Given the description of an element on the screen output the (x, y) to click on. 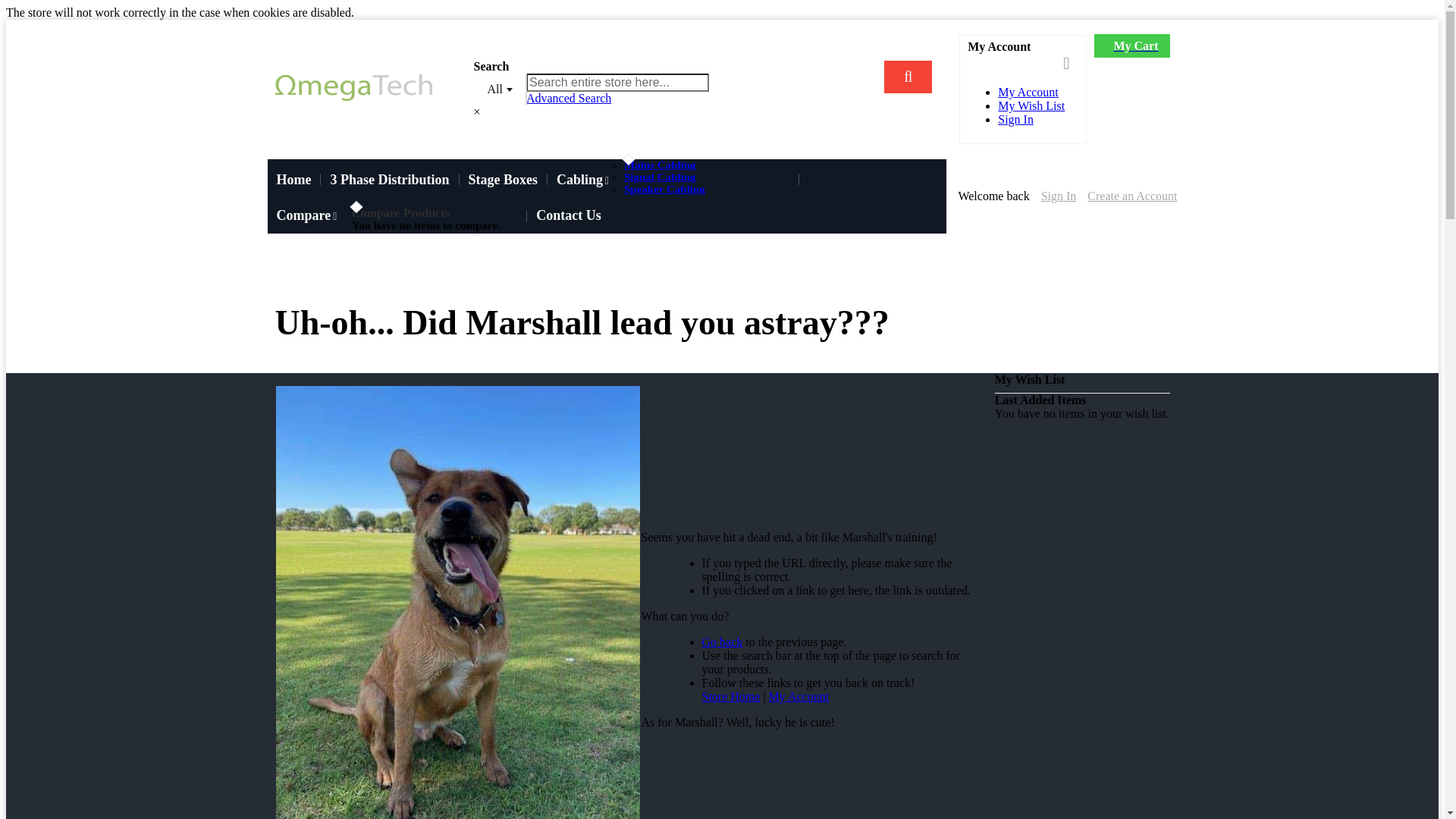
My Account Element type: text (1027, 91)
Create an Account Element type: text (1131, 195)
My Wish List Element type: text (1030, 105)
Sign In Element type: text (1015, 118)
Store Home Element type: text (731, 696)
Contact Us Element type: text (568, 215)
Signal Cabling Element type: text (660, 177)
My Account Element type: text (1012, 62)
Speaker Cabling Element type: text (664, 189)
Home Element type: text (293, 179)
3 Phase Distribution Element type: text (389, 179)
Sign In Element type: text (1058, 195)
Compare Element type: text (308, 215)
Go back Element type: text (722, 641)
Cabling Element type: text (585, 179)
Advanced Search Element type: text (568, 97)
Stage Boxes Element type: text (503, 179)
My Cart Element type: text (1131, 45)
Mains Cabling Element type: text (660, 165)
Search Element type: text (907, 76)
My Account Element type: text (798, 696)
